Given the description of an element on the screen output the (x, y) to click on. 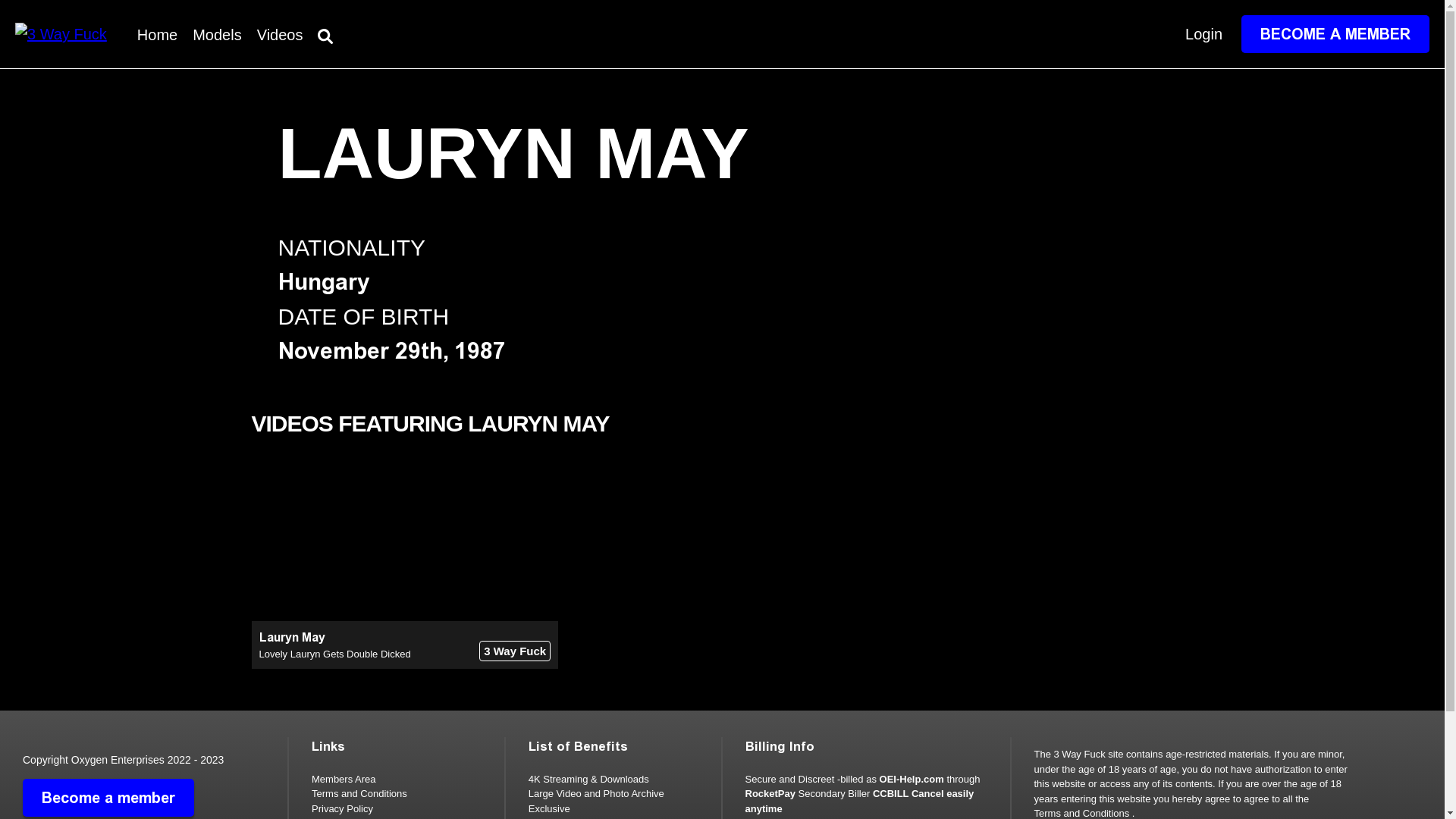
Login Element type: text (1203, 33)
3 Way Fuck Element type: text (514, 651)
OEI-Help.com Element type: text (911, 778)
Privacy Policy Element type: text (342, 808)
Models Element type: text (216, 34)
Videos Element type: text (280, 34)
Members Area Element type: text (343, 778)
Terms and Conditions Element type: text (359, 793)
CCBILL Cancel easily anytime Element type: text (858, 800)
Lauryn May Element type: text (292, 637)
Become a member Element type: text (108, 797)
Lovely Lauryn Gets Double Dicked Element type: text (335, 653)
RocketPay Element type: text (769, 793)
BECOME A MEMBER Element type: text (1335, 34)
Home Element type: text (157, 34)
